Given the description of an element on the screen output the (x, y) to click on. 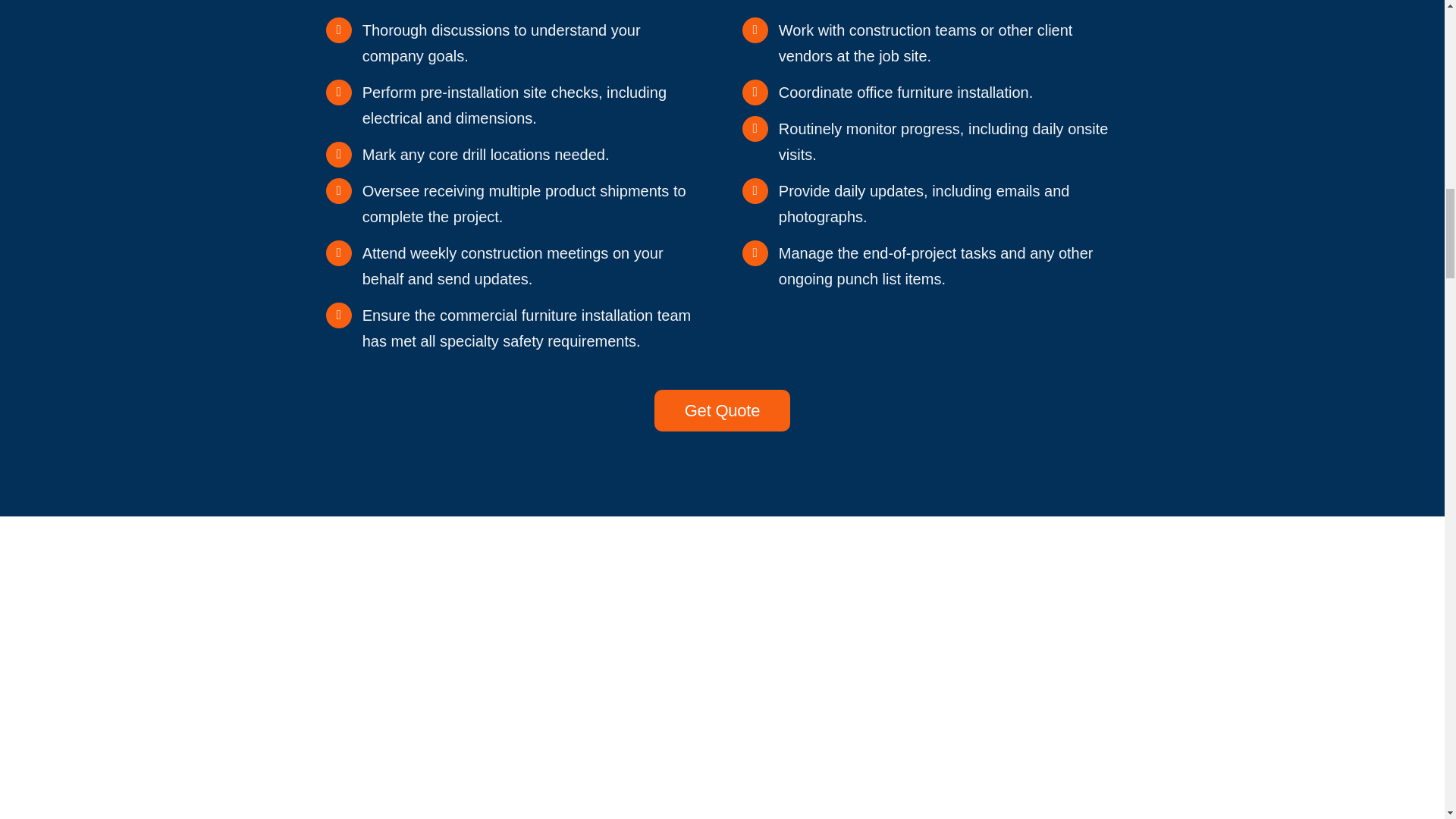
Get Quote (721, 410)
